Given the description of an element on the screen output the (x, y) to click on. 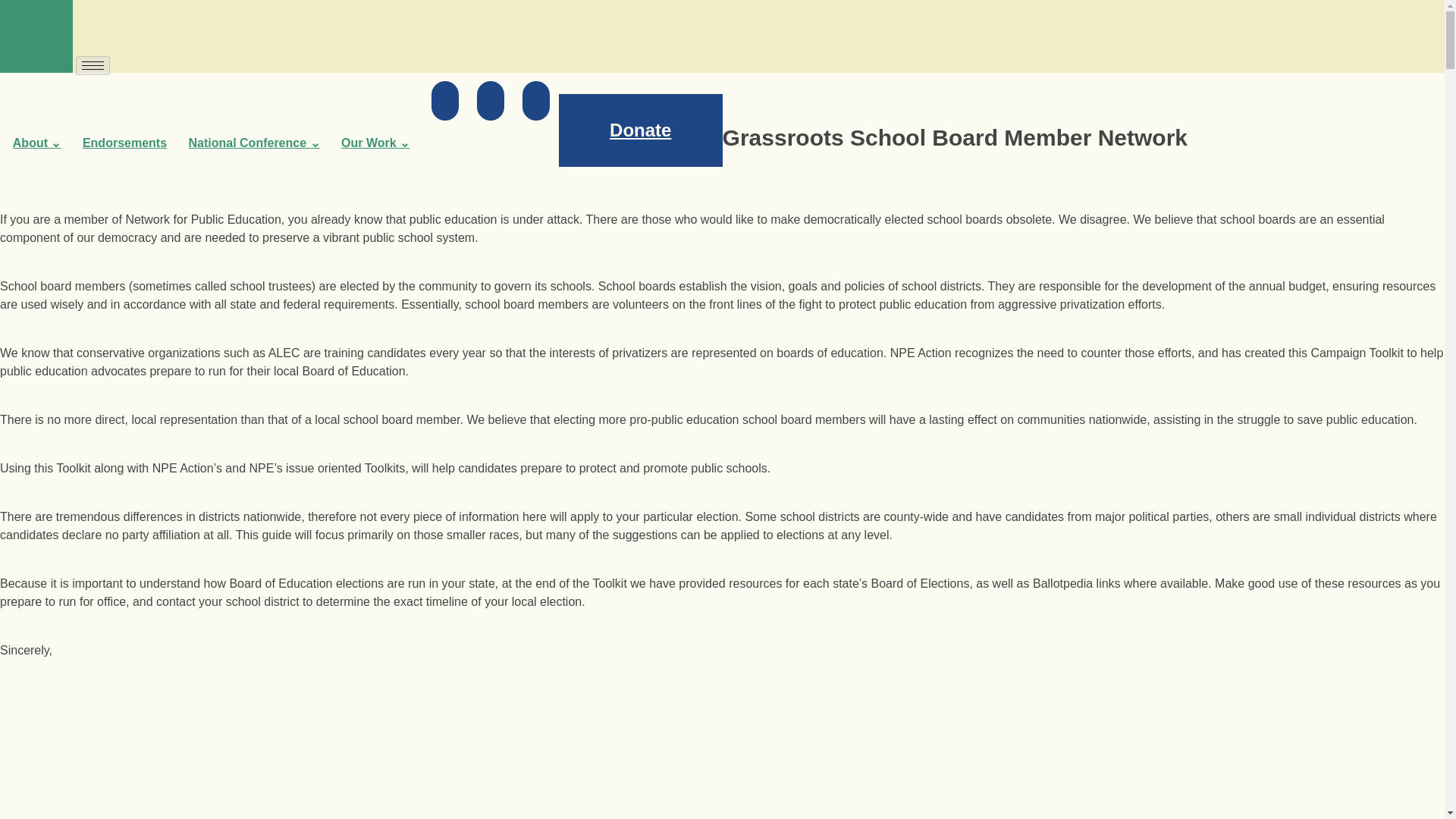
donate (640, 130)
twitter (490, 100)
facebook (444, 100)
National Conference (252, 142)
About (37, 142)
Our Work (374, 142)
instagram (536, 100)
Endorsements (124, 142)
Donate (640, 130)
